Given the description of an element on the screen output the (x, y) to click on. 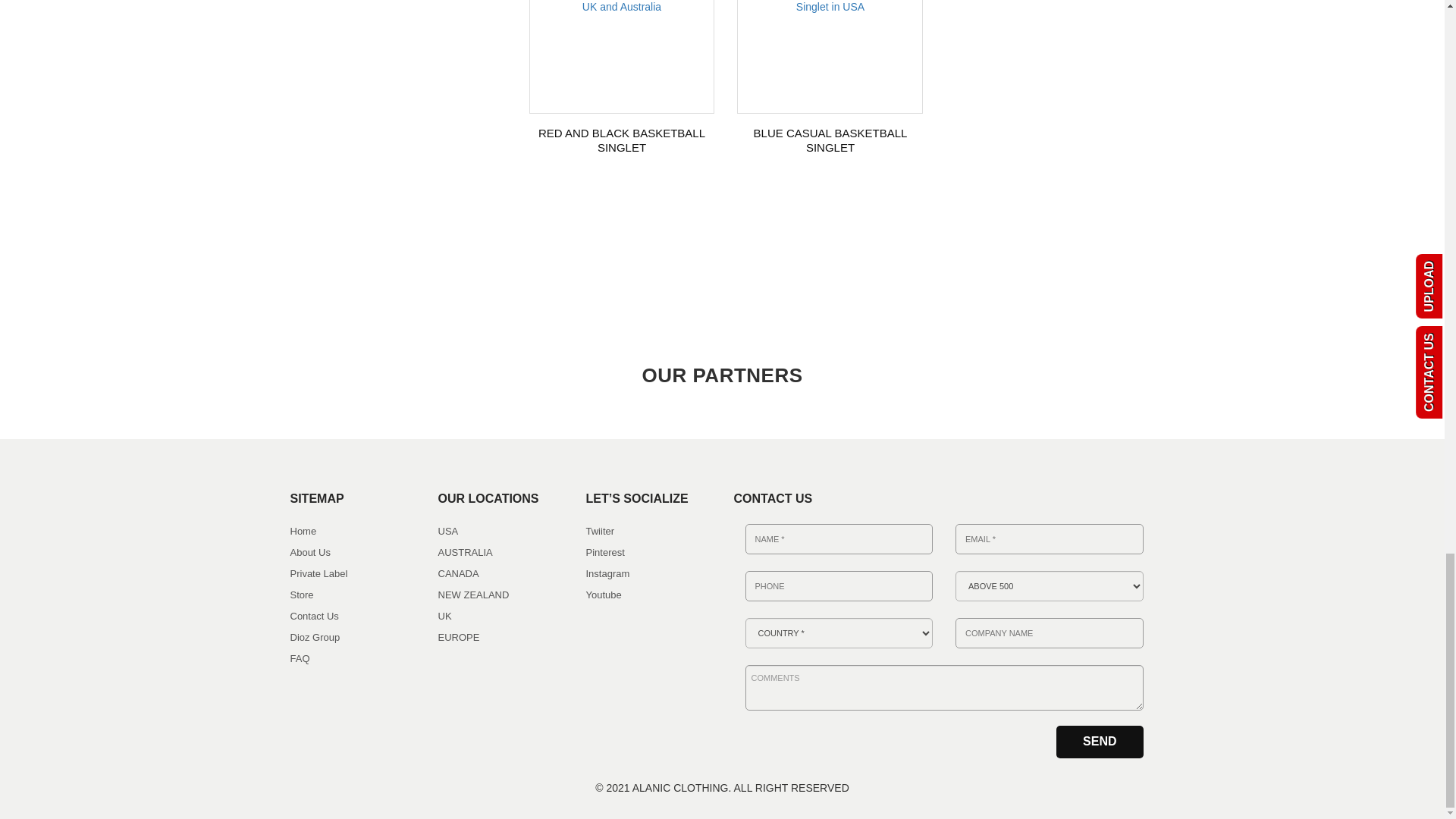
Wholesale Blue Casual Basketball Singlet in USA (829, 7)
Send (1099, 741)
Wholesale Red and Black Basketball Singlet in USA (621, 7)
